Given the description of an element on the screen output the (x, y) to click on. 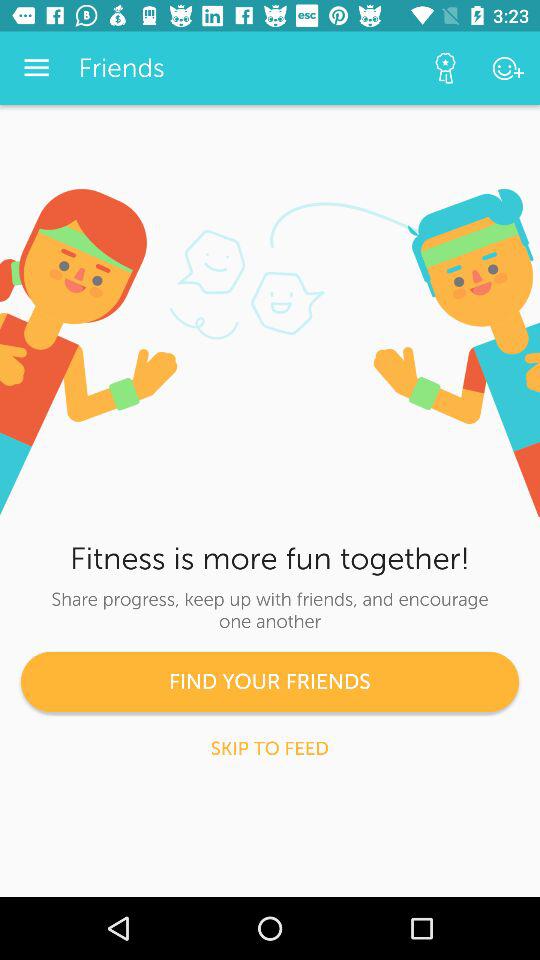
select icon to the left of the friends icon (36, 68)
